Given the description of an element on the screen output the (x, y) to click on. 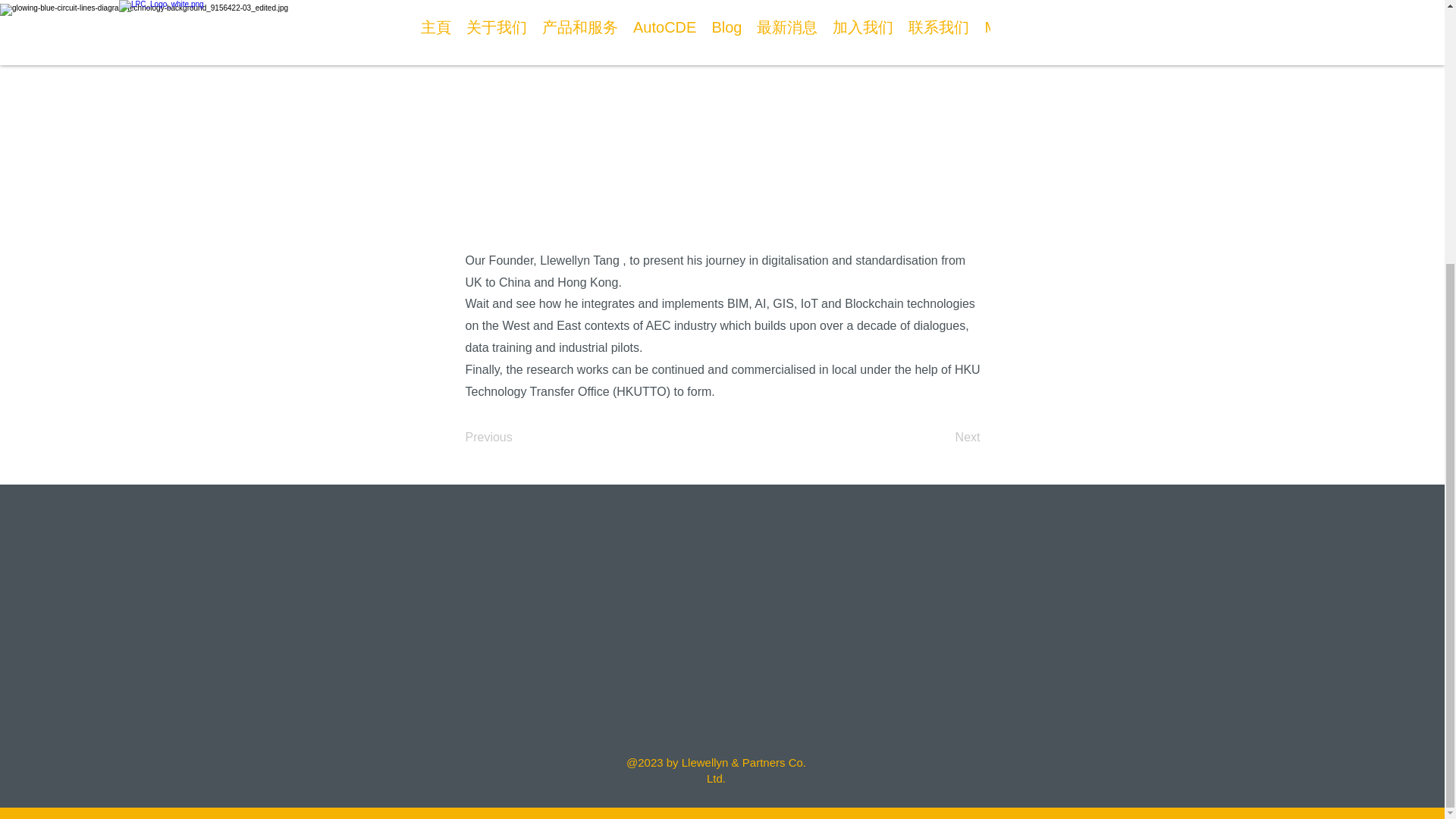
Next (941, 437)
Previous (515, 437)
1614653547855.jfif (721, 110)
